Given the description of an element on the screen output the (x, y) to click on. 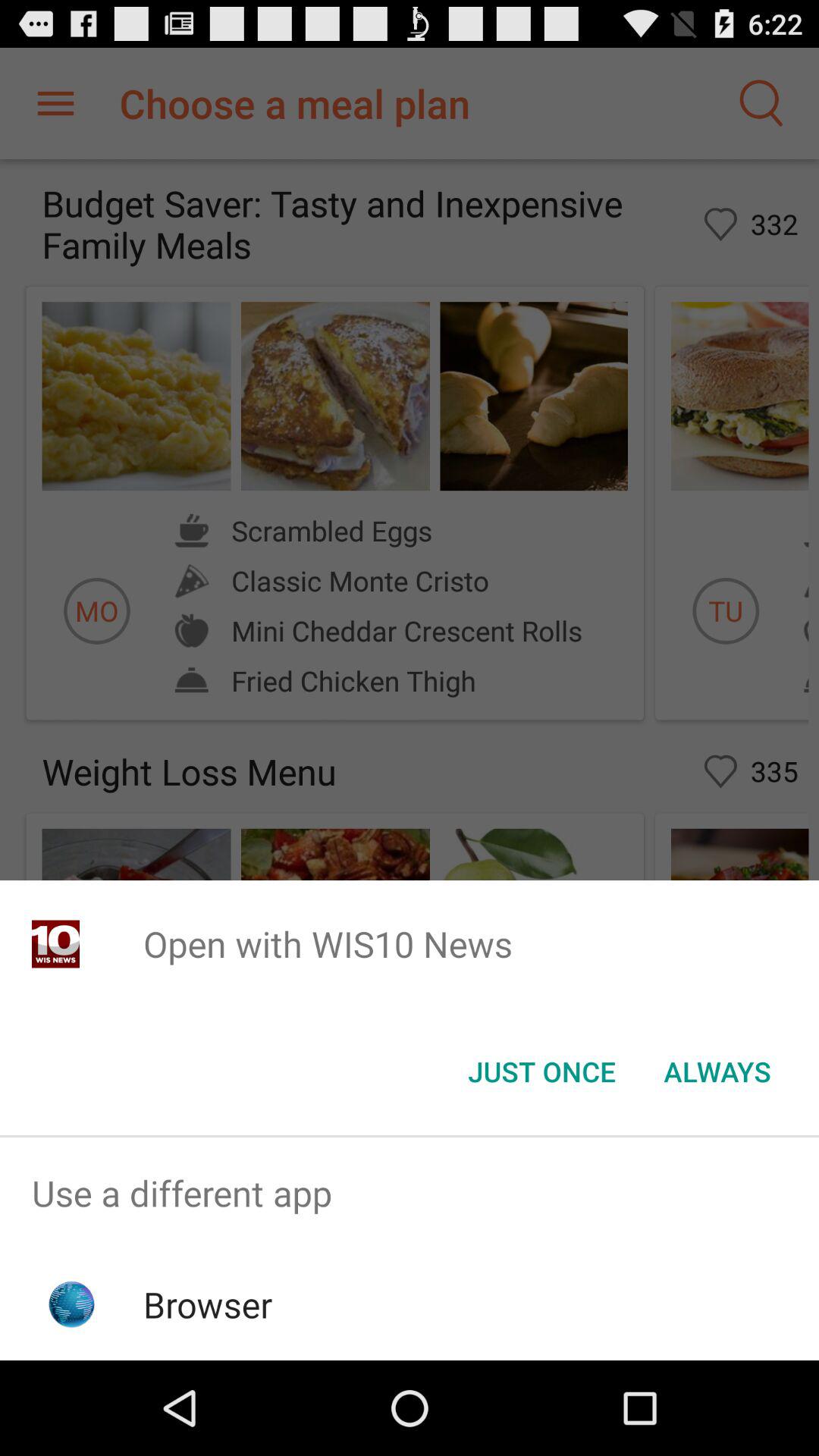
select the item at the bottom right corner (717, 1071)
